Given the description of an element on the screen output the (x, y) to click on. 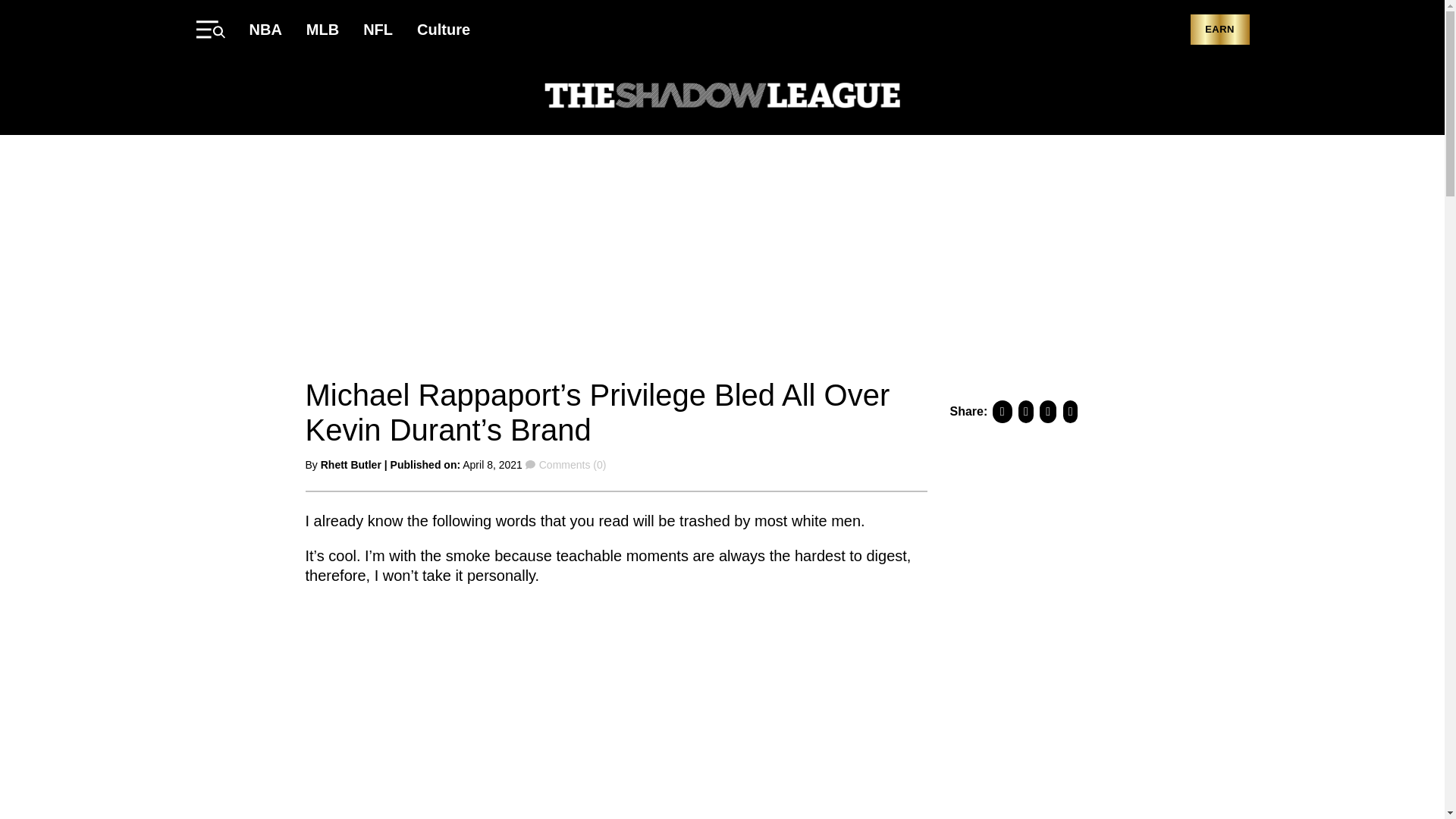
NBA (264, 29)
Rhett Butler (350, 464)
MLB (322, 29)
EARN (1220, 29)
The Shadow League (721, 96)
Chuck's Reaction To KD's One Word Answer Was Comedy (494, 707)
Culture (443, 29)
NFL (377, 29)
